Given the description of an element on the screen output the (x, y) to click on. 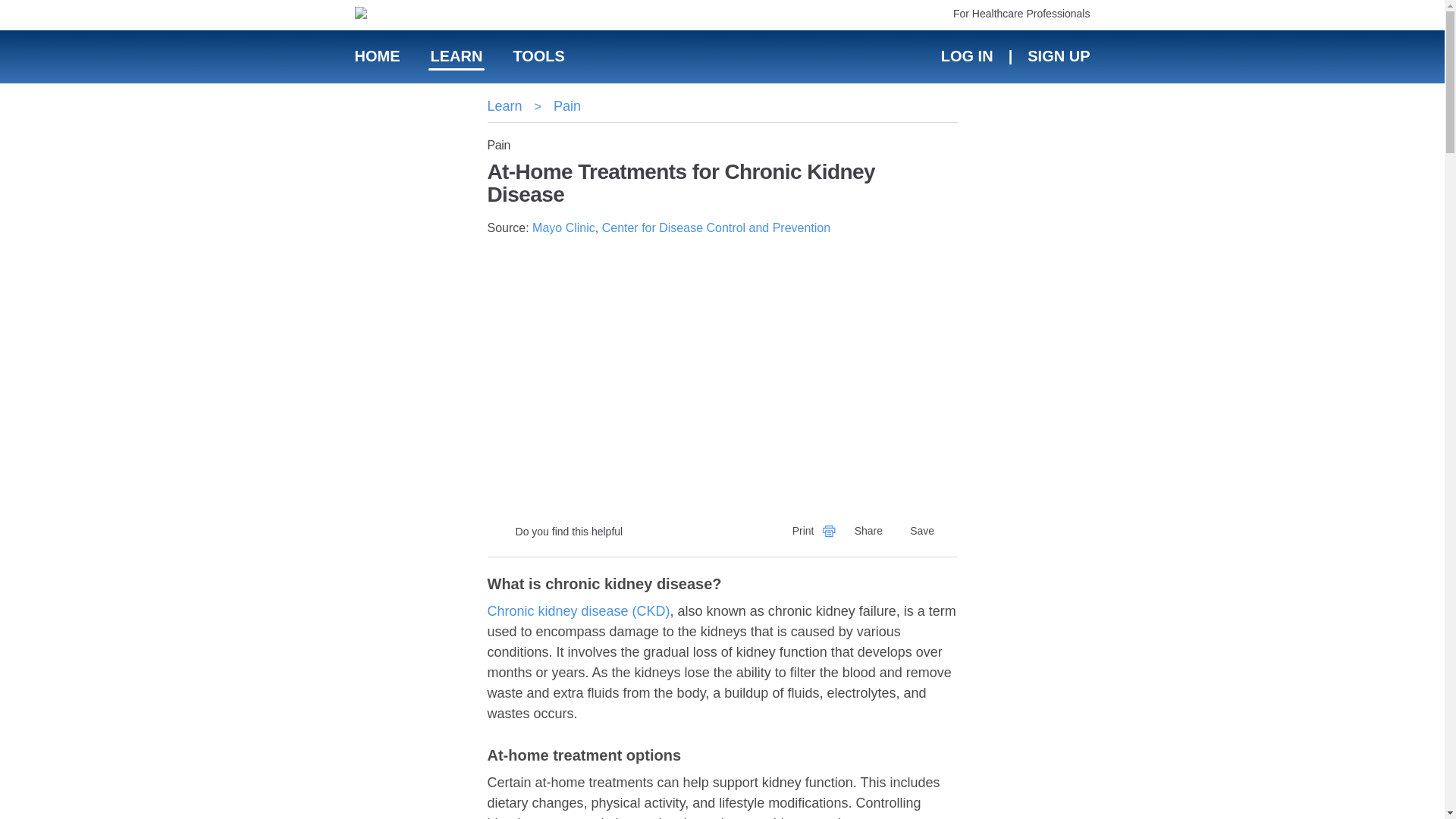
SIGN UP (1056, 55)
For Healthcare Professionals (1021, 13)
LOG IN (966, 55)
Mayo Clinic (563, 227)
HOME (377, 55)
Pain (566, 105)
LEARN (456, 55)
Learn (503, 105)
TOOLS (538, 55)
Center for Disease Control and Prevention (716, 227)
